Given the description of an element on the screen output the (x, y) to click on. 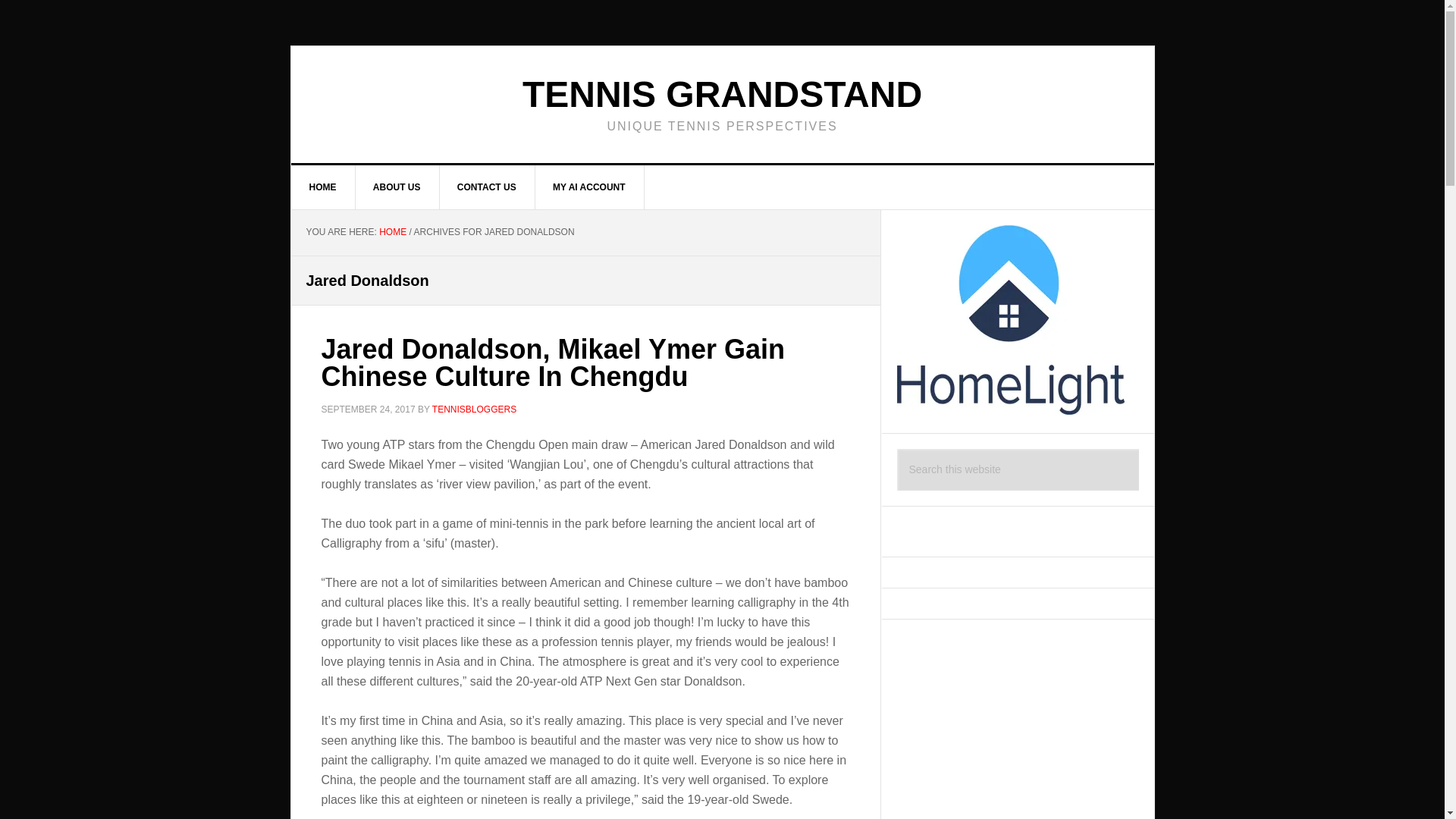
Jared Donaldson, Mikael Ymer Gain Chinese Culture In Chengdu (553, 362)
TENNISBLOGGERS (474, 408)
TENNIS GRANDSTAND (721, 94)
HOME (323, 187)
HOME (392, 231)
CONTACT US (487, 187)
MY AI ACCOUNT (589, 187)
ABOUT US (397, 187)
